Given the description of an element on the screen output the (x, y) to click on. 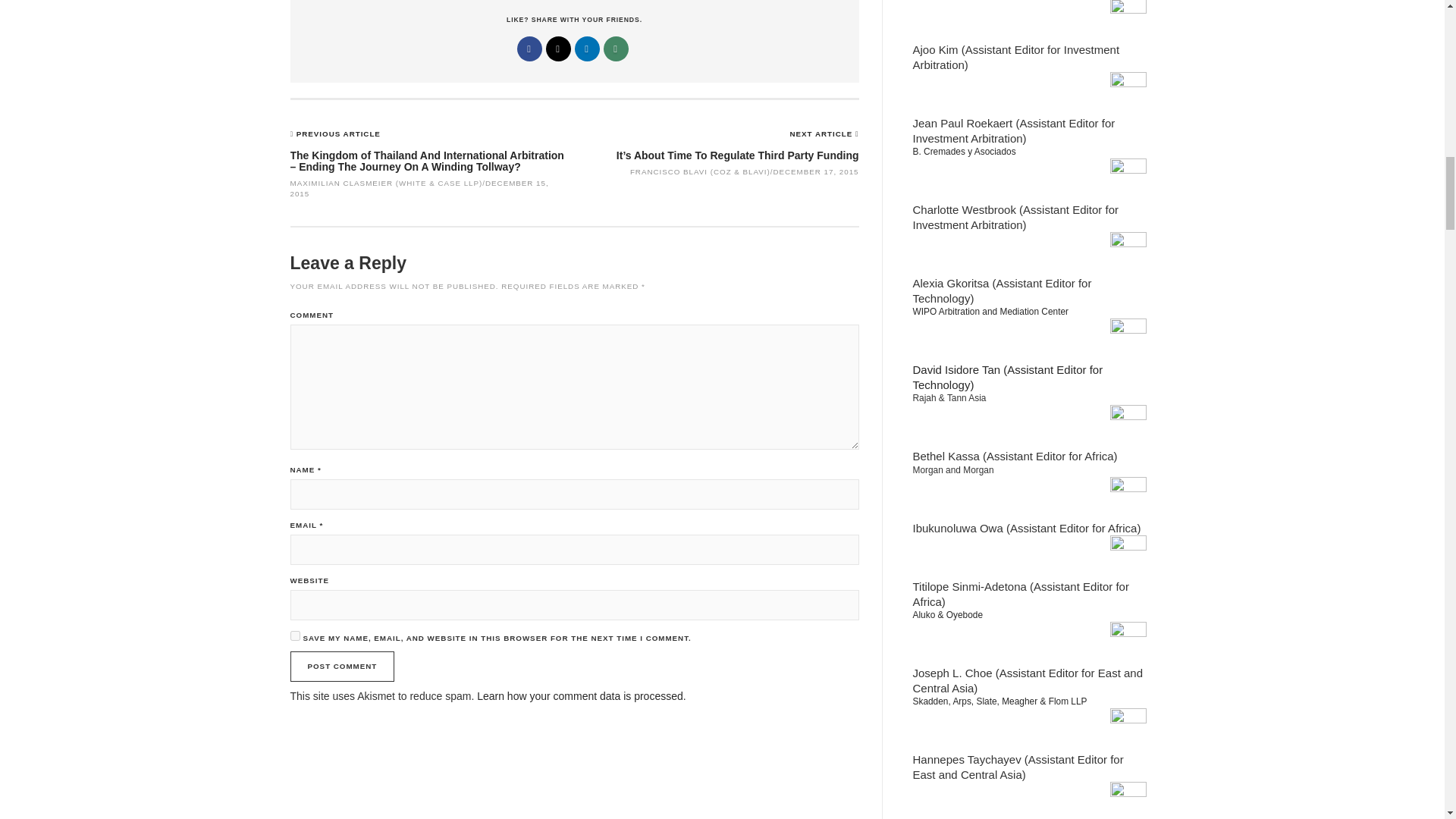
FRANCISCO BLAVI (668, 171)
NEXT ARTICLE (823, 133)
DECEMBER 15, 2015 (418, 188)
Post Comment (341, 666)
yes (294, 635)
Post Comment (341, 666)
PREVIOUS ARTICLE (338, 133)
DECEMBER 17, 2015 (816, 171)
MAXIMILIAN CLASMEIER (341, 183)
